Given the description of an element on the screen output the (x, y) to click on. 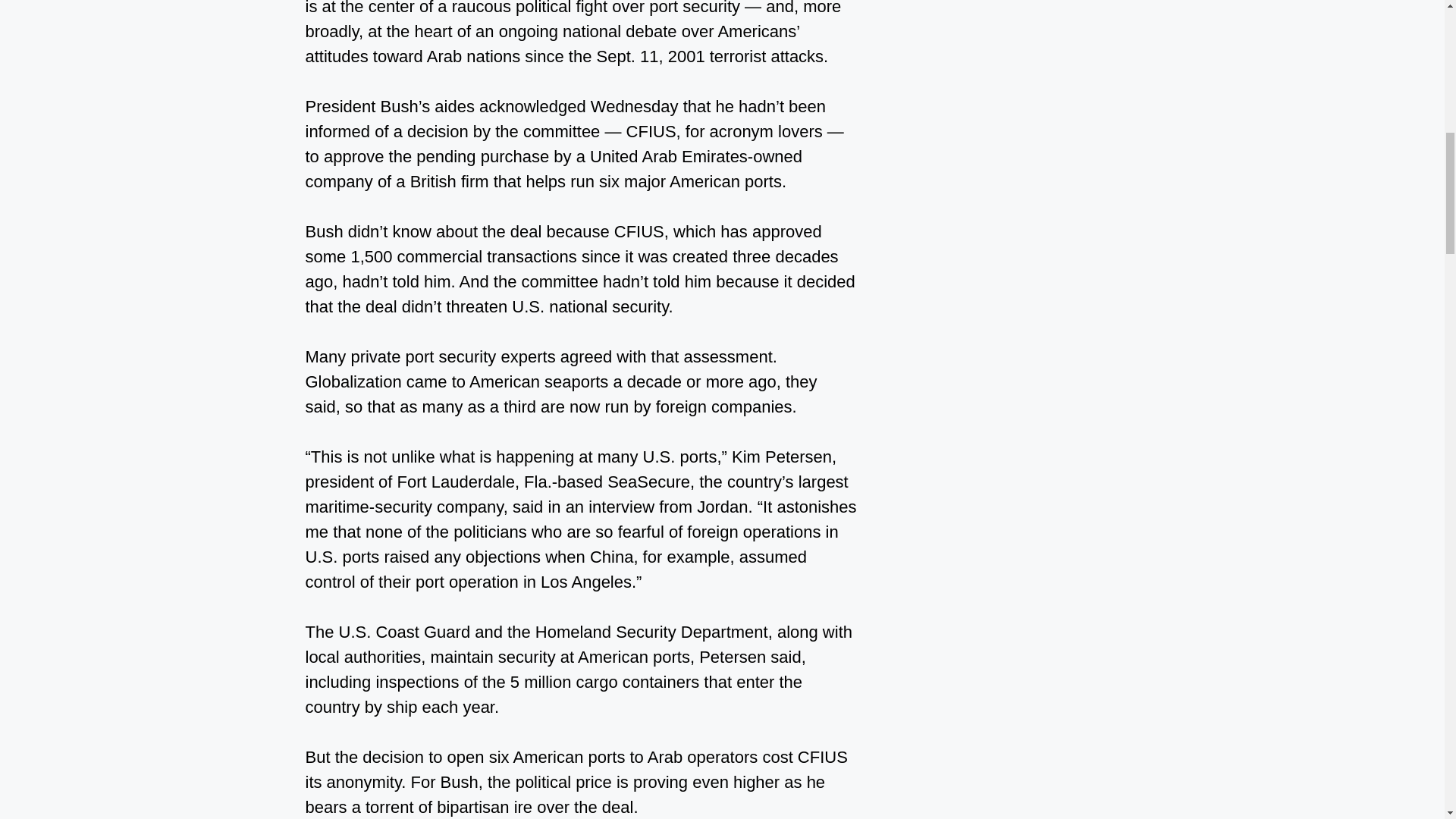
Advertisement (985, 126)
